Given the description of an element on the screen output the (x, y) to click on. 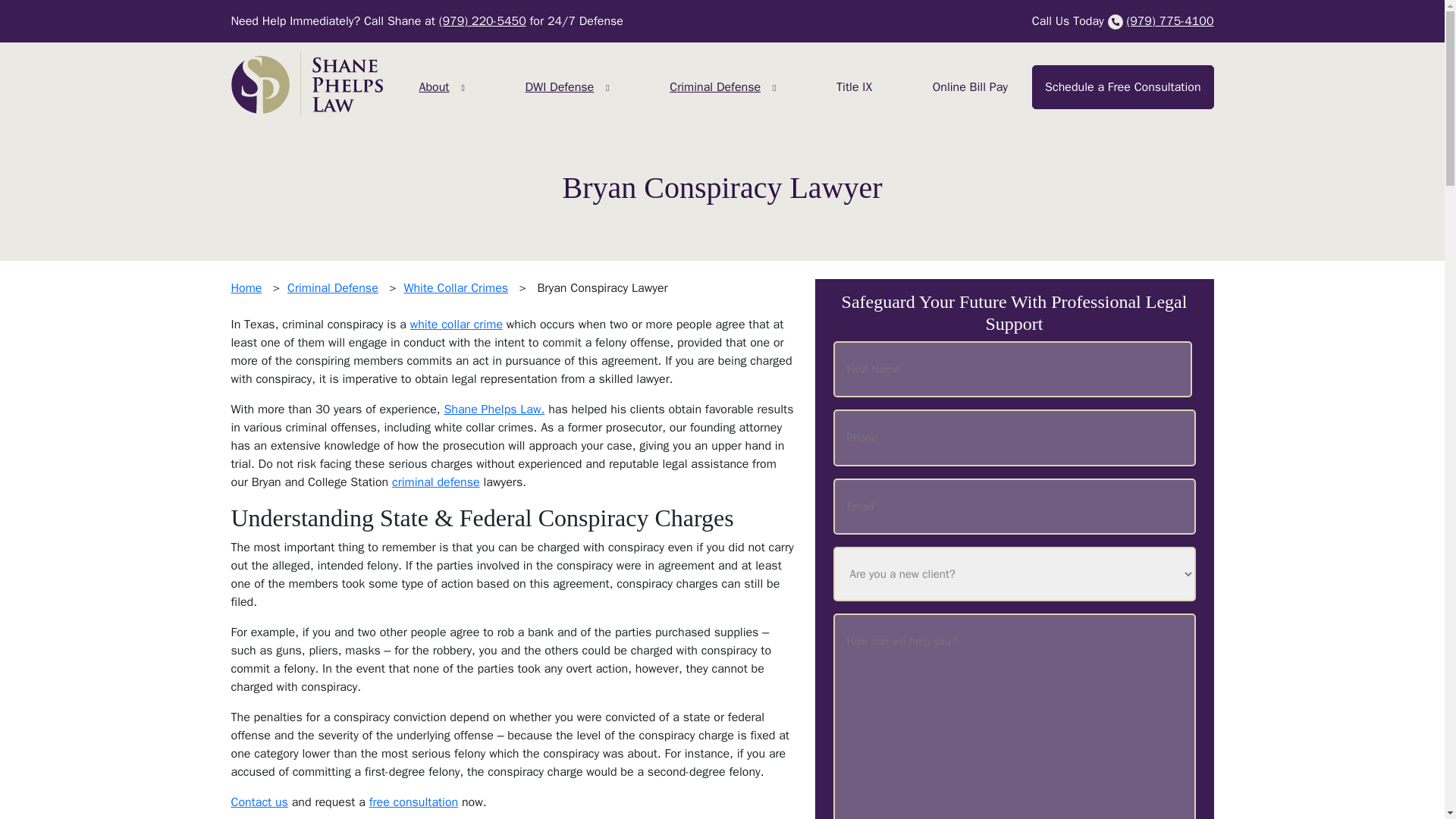
DWI Defense (558, 87)
Criminal Defense (715, 87)
About (433, 87)
